Given the description of an element on the screen output the (x, y) to click on. 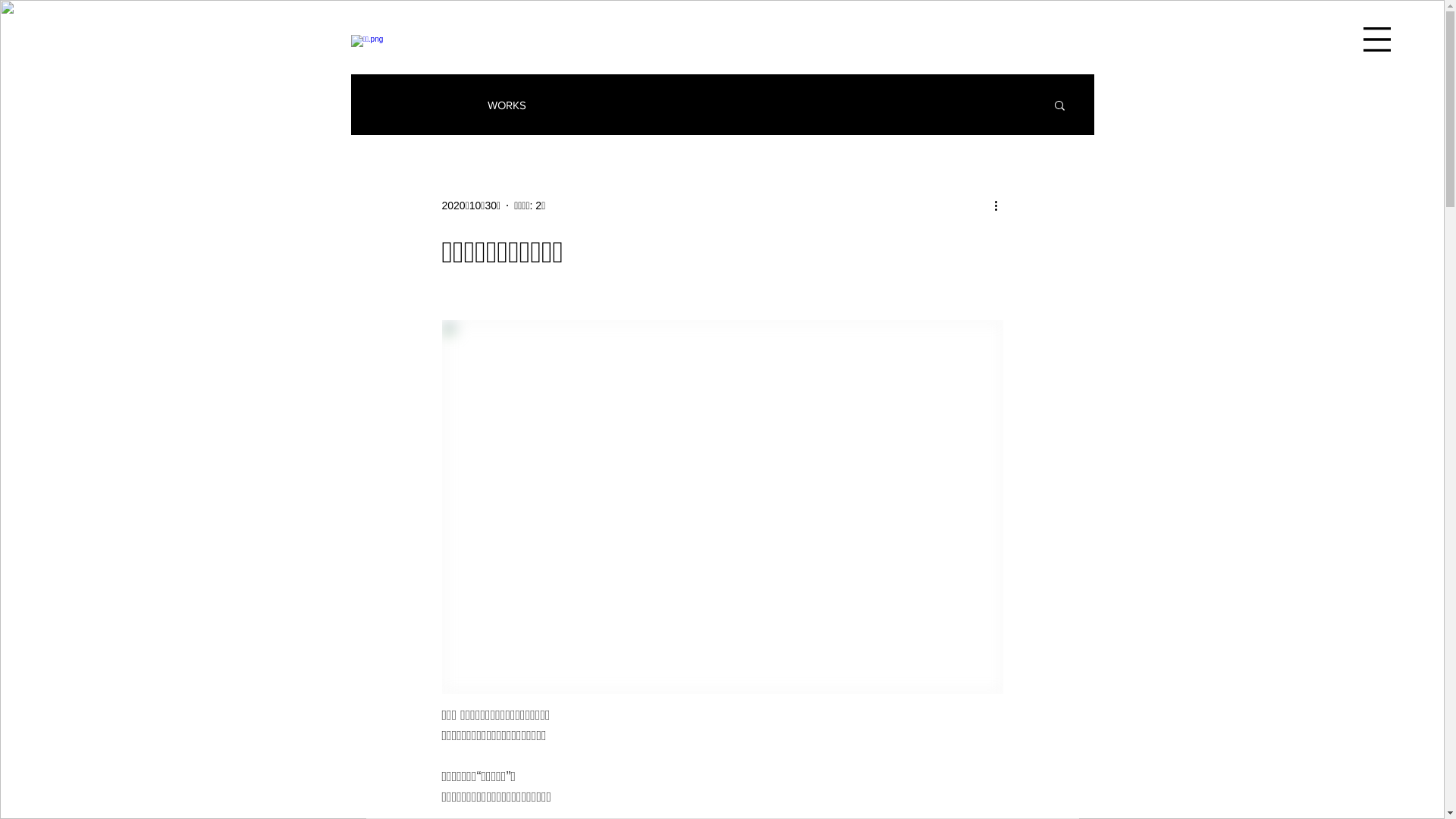
WORKS Element type: text (505, 104)
